Given the description of an element on the screen output the (x, y) to click on. 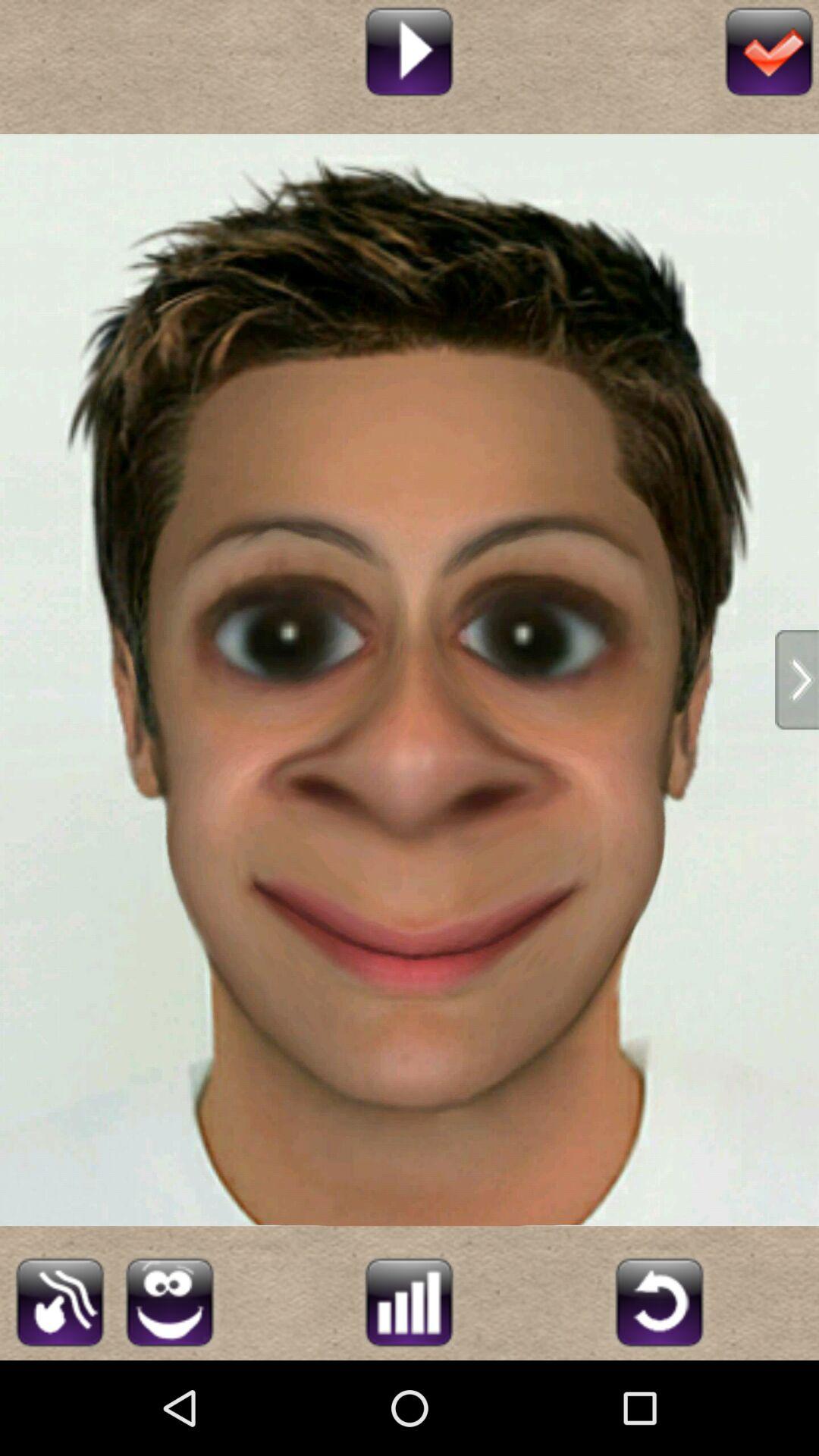
click icon at the bottom (408, 1300)
